Given the description of an element on the screen output the (x, y) to click on. 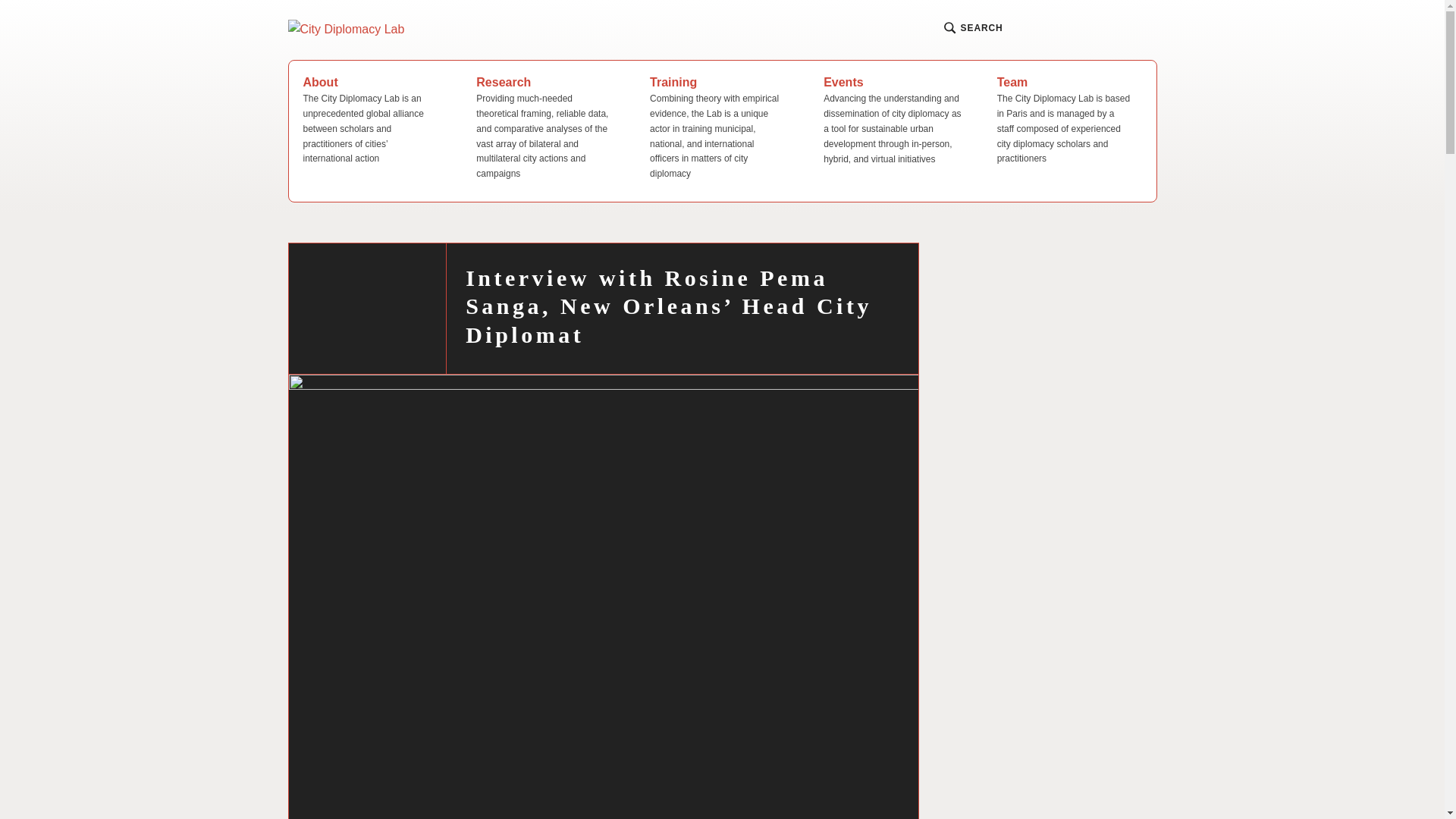
YouTube (1055, 28)
LinkedIn (1144, 28)
Twitter (1114, 28)
Search (340, 79)
City Diplomacy Lab (532, 36)
Instagram (1086, 28)
